Given the description of an element on the screen output the (x, y) to click on. 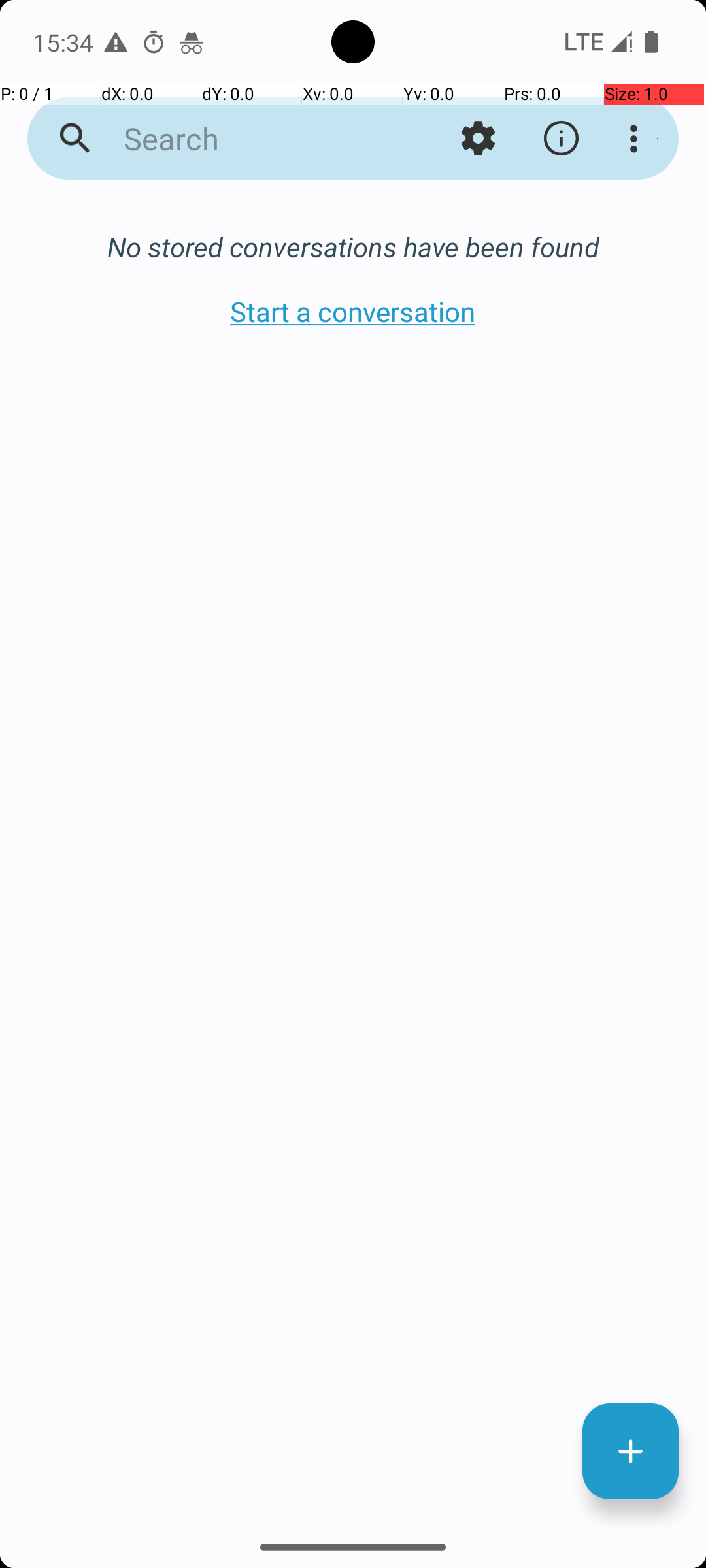
No stored conversations have been found Element type: android.widget.TextView (353, 246)
Start a conversation Element type: android.widget.TextView (352, 311)
